Given the description of an element on the screen output the (x, y) to click on. 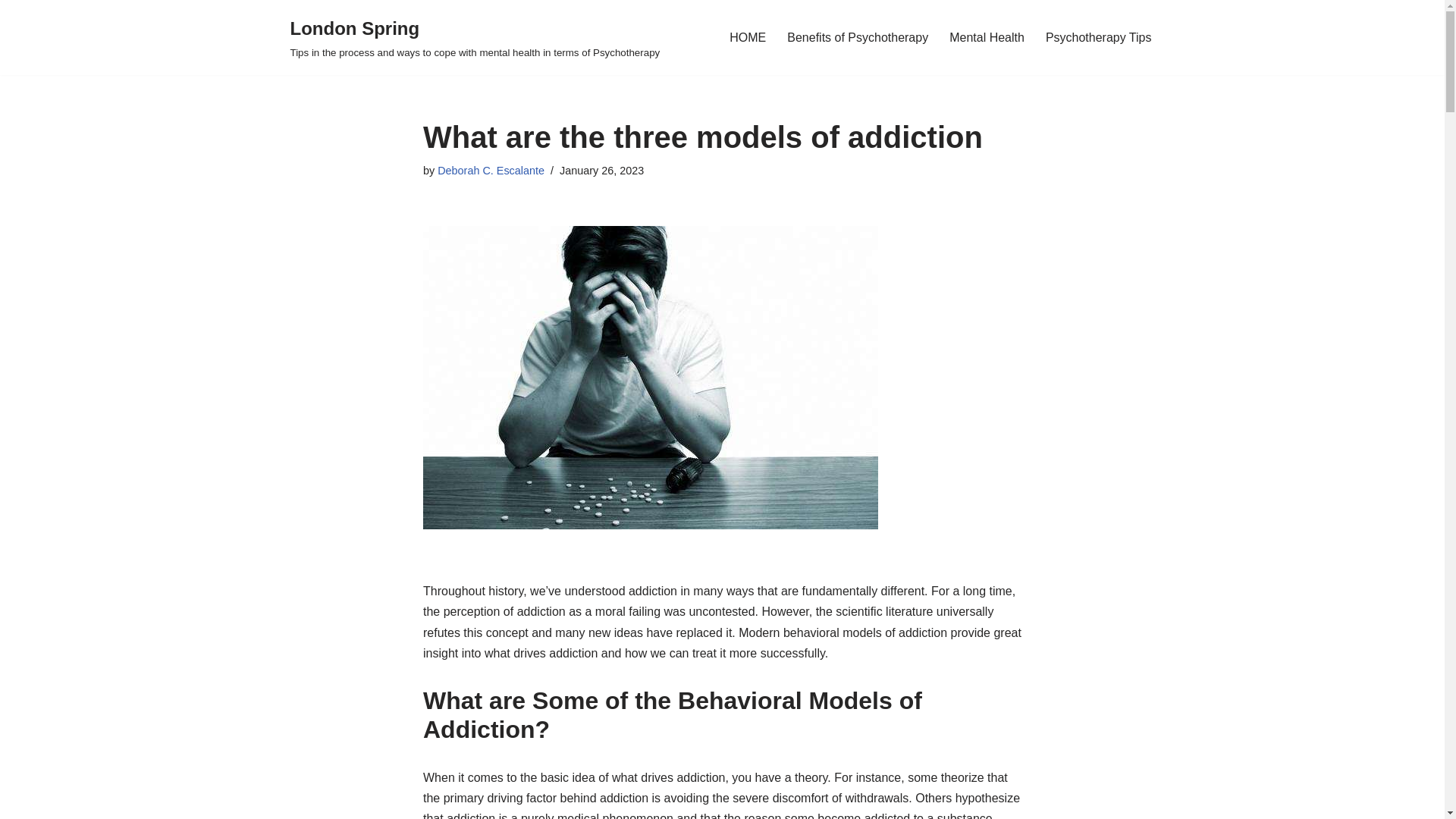
Psychotherapy Tips (1098, 37)
Skip to content (11, 31)
HOME (747, 37)
Benefits of Psychotherapy (857, 37)
Deborah C. Escalante (491, 170)
Posts by Deborah C. Escalante (491, 170)
Mental Health (987, 37)
